Given the description of an element on the screen output the (x, y) to click on. 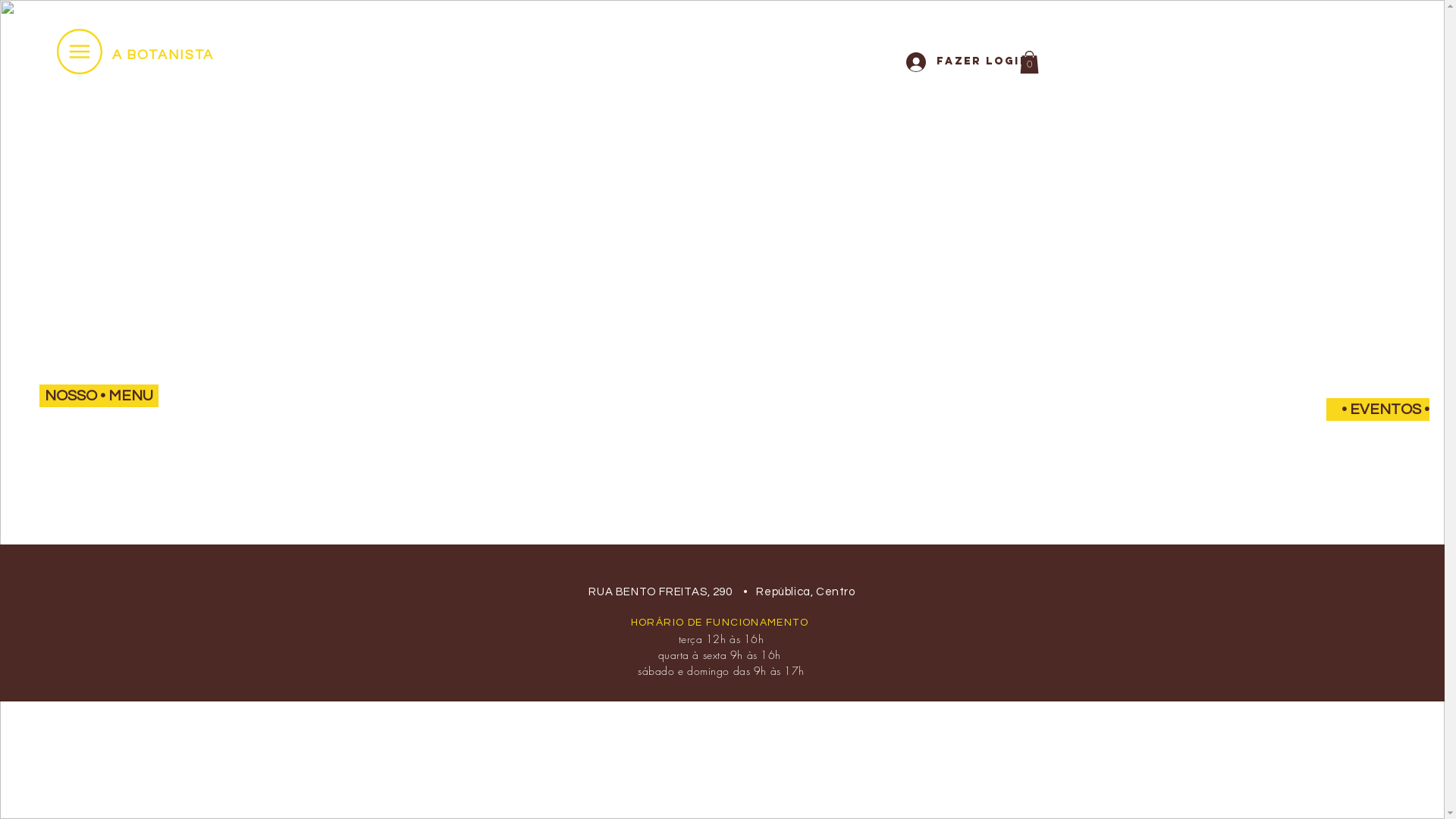
A BOTANISTA Element type: text (162, 54)
0 Element type: text (1028, 61)
Continuar navegando Element type: text (722, 371)
Fazer login Element type: text (953, 61)
